Given the description of an element on the screen output the (x, y) to click on. 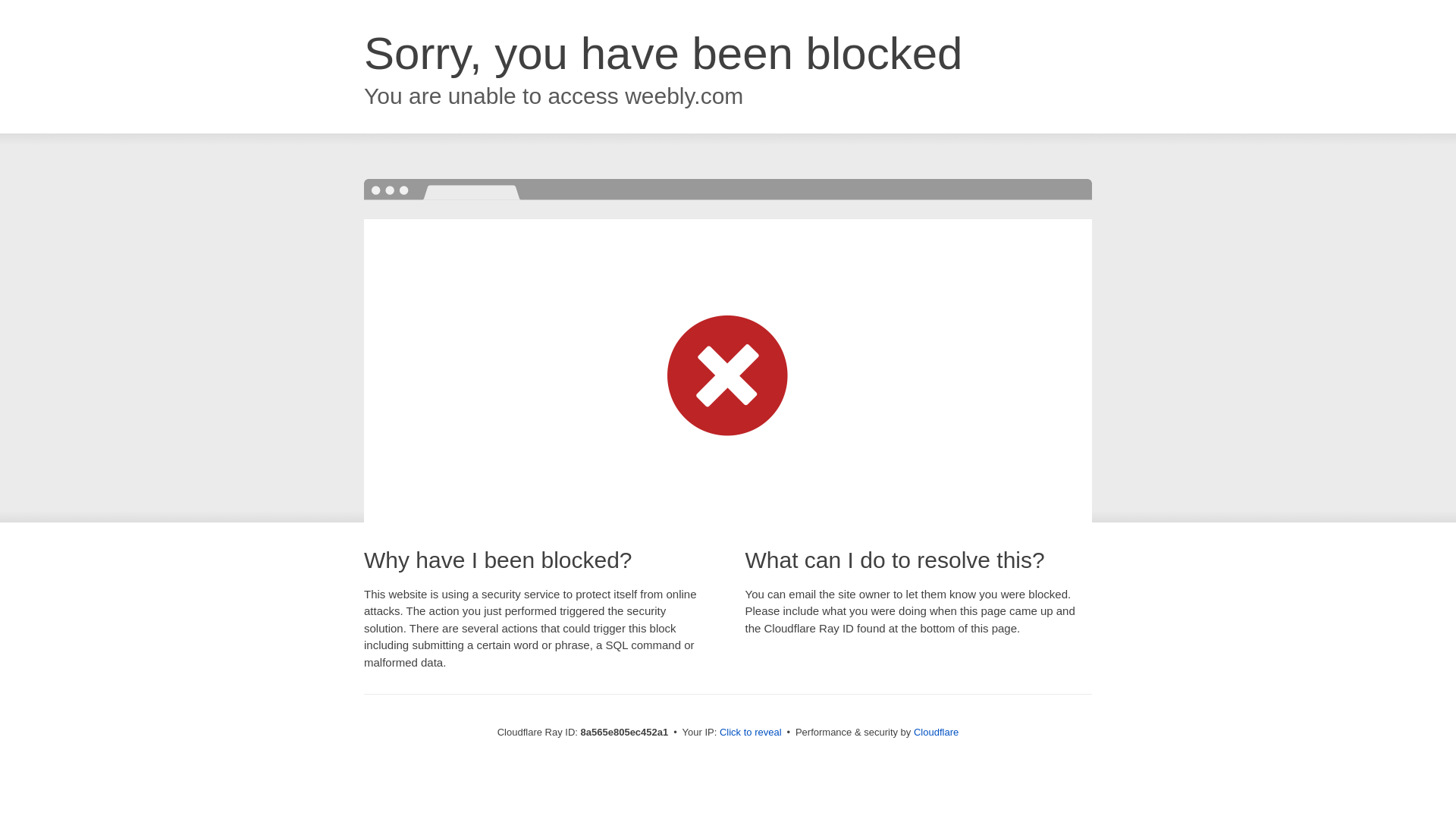
Click to reveal (750, 732)
Cloudflare (936, 731)
